Given the description of an element on the screen output the (x, y) to click on. 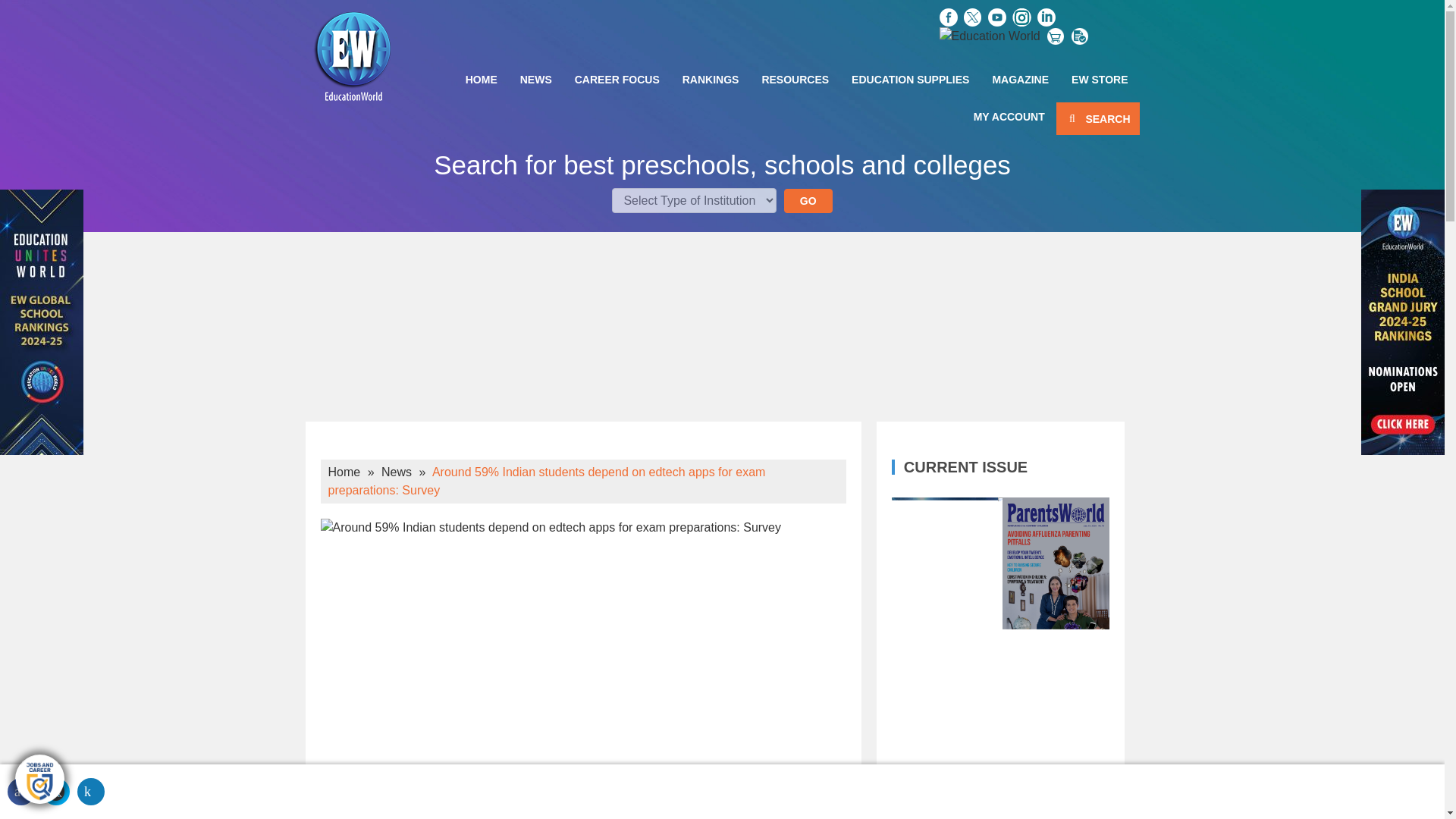
CAREER FOCUS (617, 78)
GO (808, 200)
RESOURCES (794, 78)
NEWS (535, 78)
HOME (481, 78)
EDUCATION SUPPLIES (909, 78)
EducationWorld and ParentsWorld July 2024 issues (1005, 722)
RANKINGS (711, 78)
MAGAZINE (1019, 78)
